Given the description of an element on the screen output the (x, y) to click on. 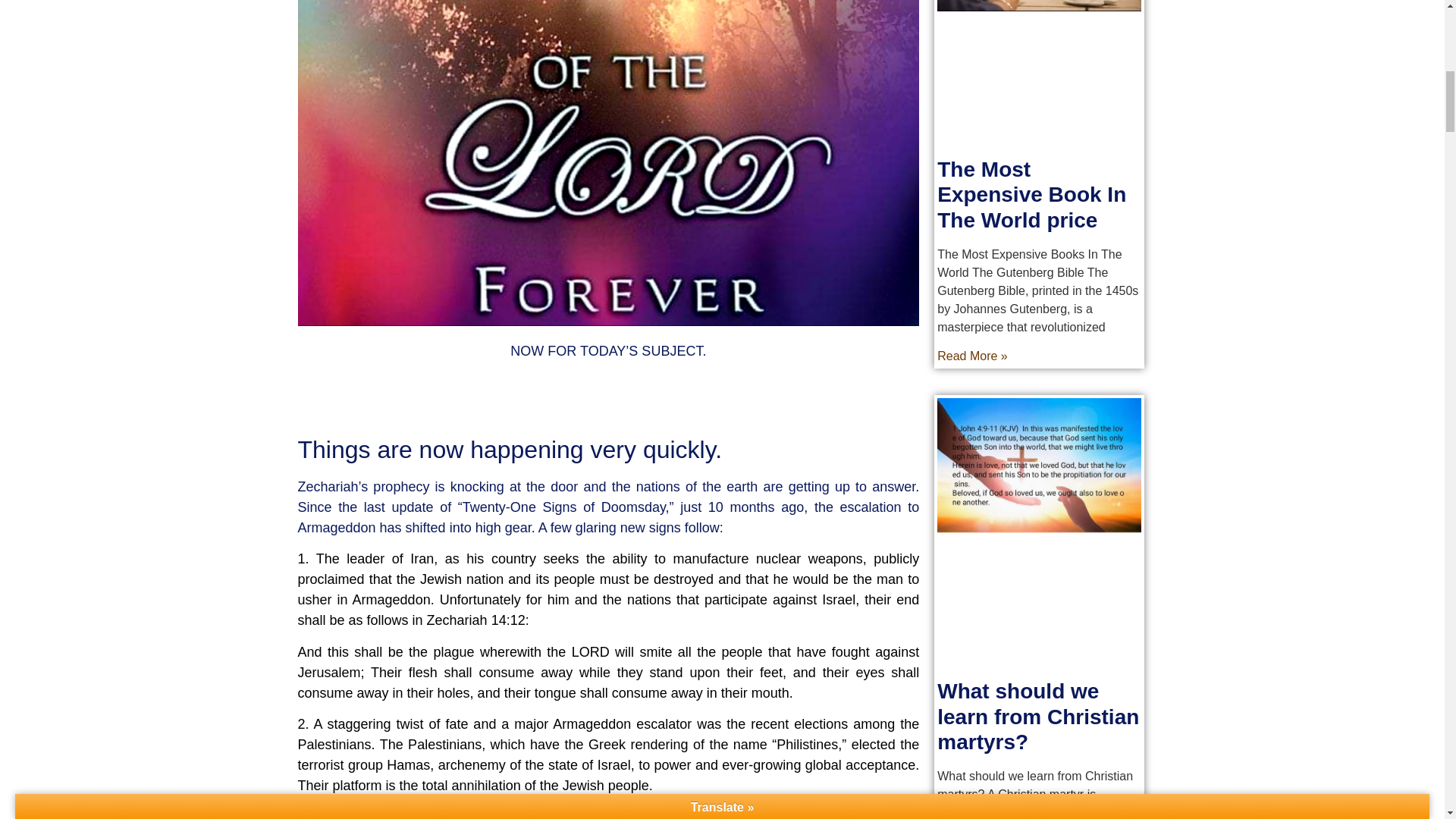
Things are now happening very quickly. (509, 449)
The Most Expensive Book In The World price (1031, 194)
What should we learn from Christian martyrs? (1037, 716)
